Given the description of an element on the screen output the (x, y) to click on. 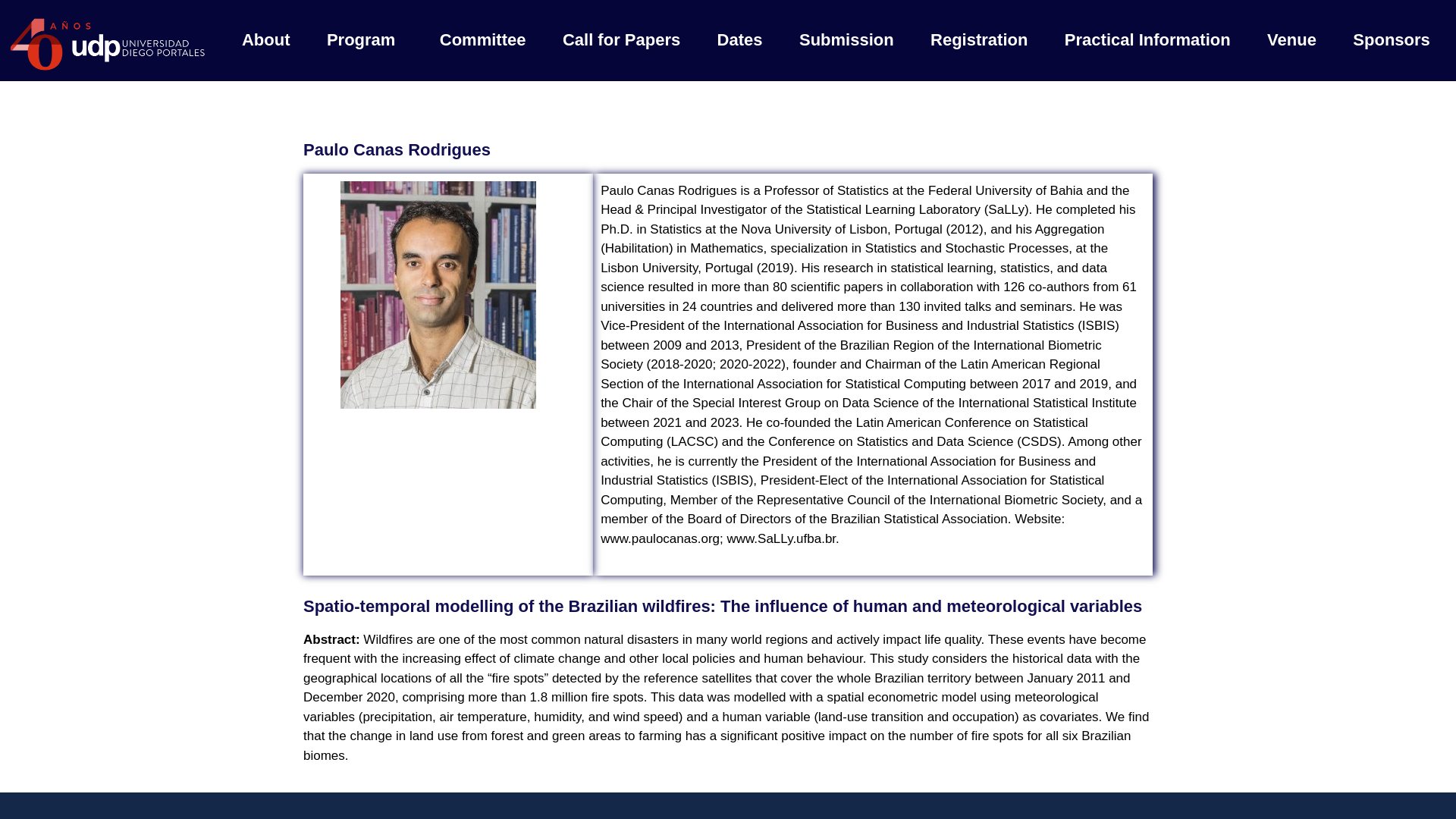
About (266, 39)
Sponsors (1391, 39)
Venue (1292, 39)
Call for Papers (621, 39)
Submission (846, 39)
Registration (979, 39)
Committee (483, 39)
Program (365, 39)
Dates (739, 39)
Practical Information (1147, 39)
